Given the description of an element on the screen output the (x, y) to click on. 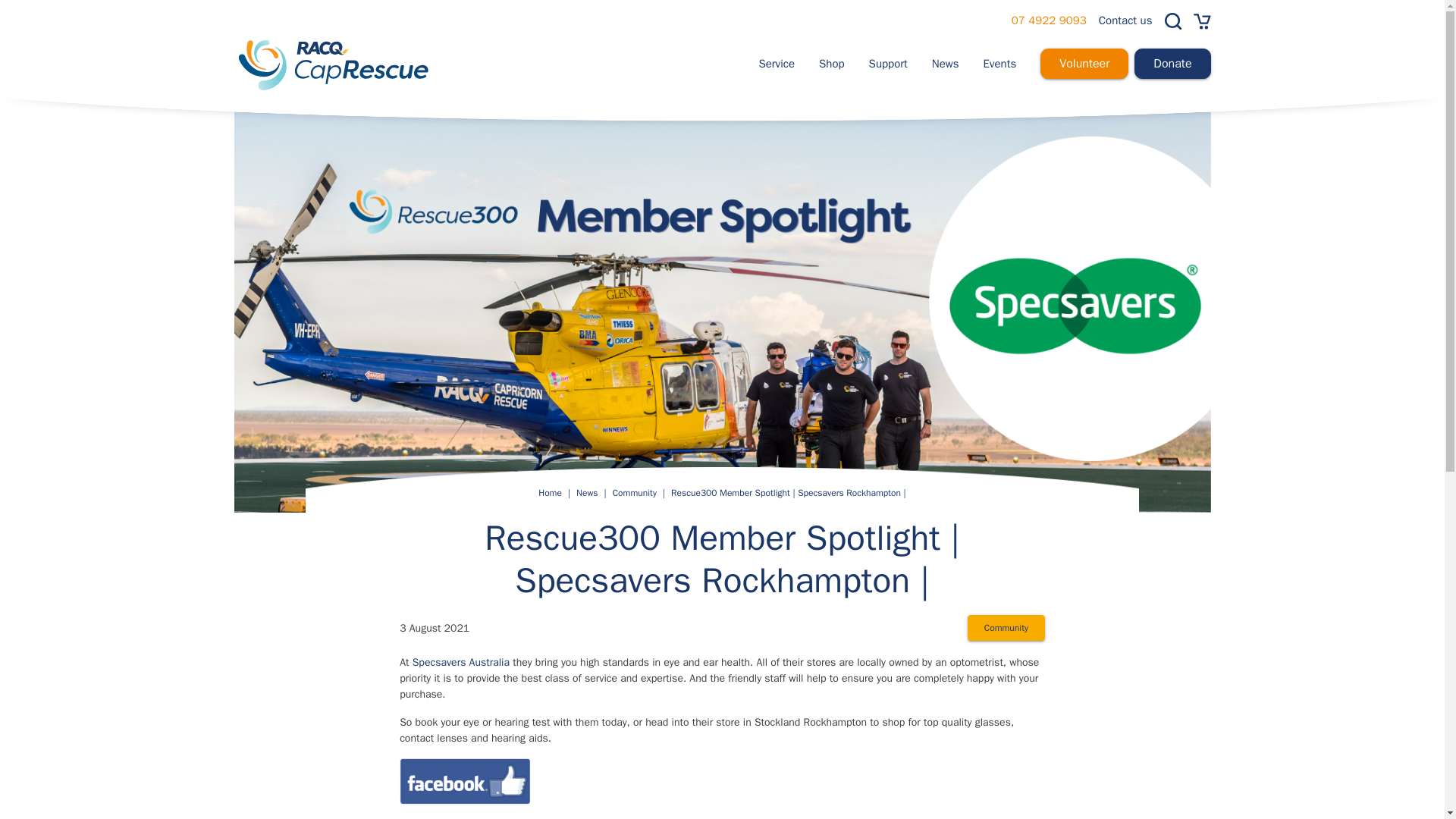
Donate (1172, 63)
News (945, 63)
Contact us (1126, 20)
Support (888, 63)
07 4922 9093 (1048, 20)
Service (776, 63)
Shop (831, 63)
Home (550, 492)
Volunteer (1084, 63)
Events (999, 63)
